Given the description of an element on the screen output the (x, y) to click on. 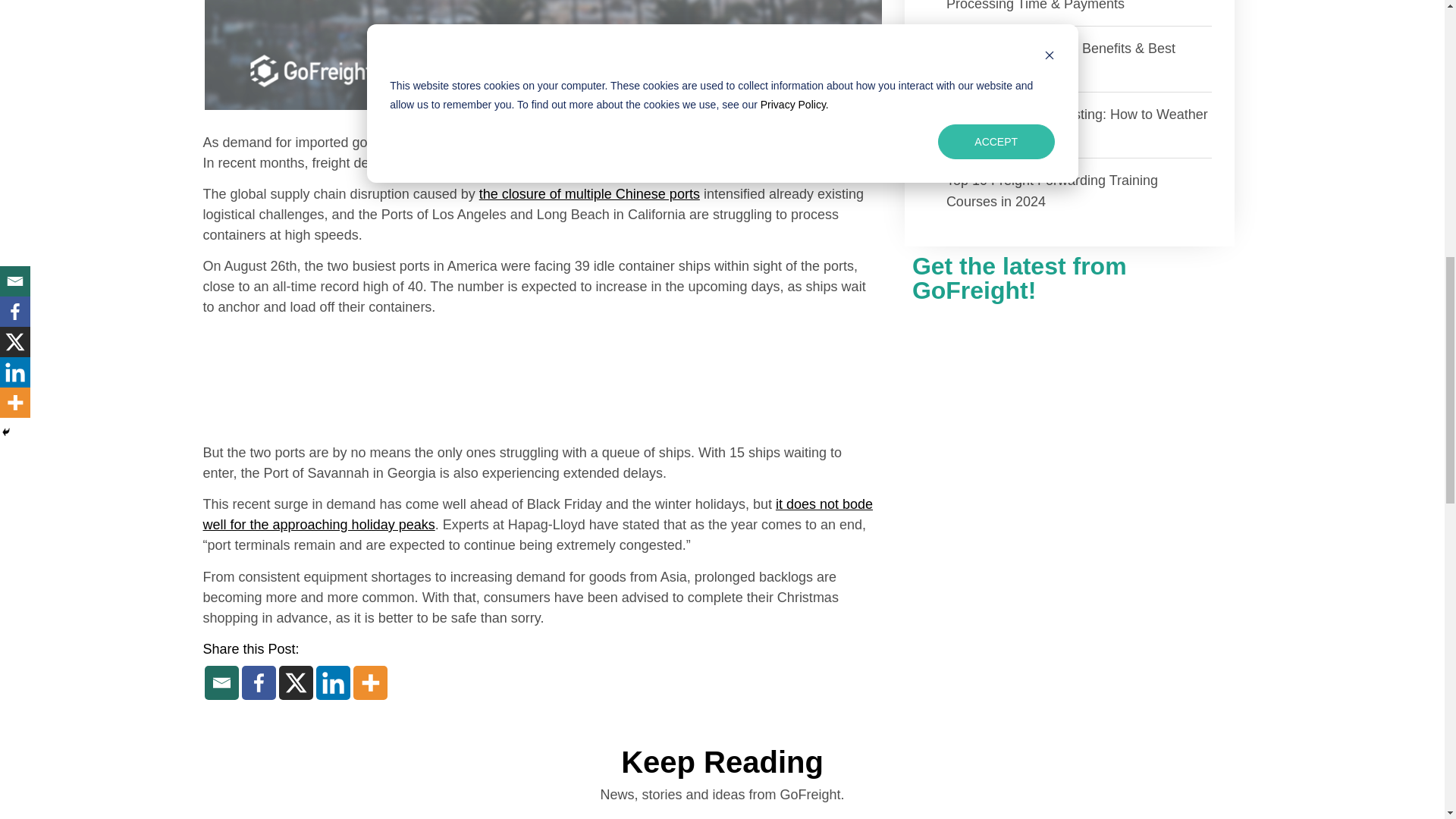
X (296, 682)
Linkedin (332, 682)
Facebook (258, 682)
More (370, 682)
Email (221, 682)
